Given the description of an element on the screen output the (x, y) to click on. 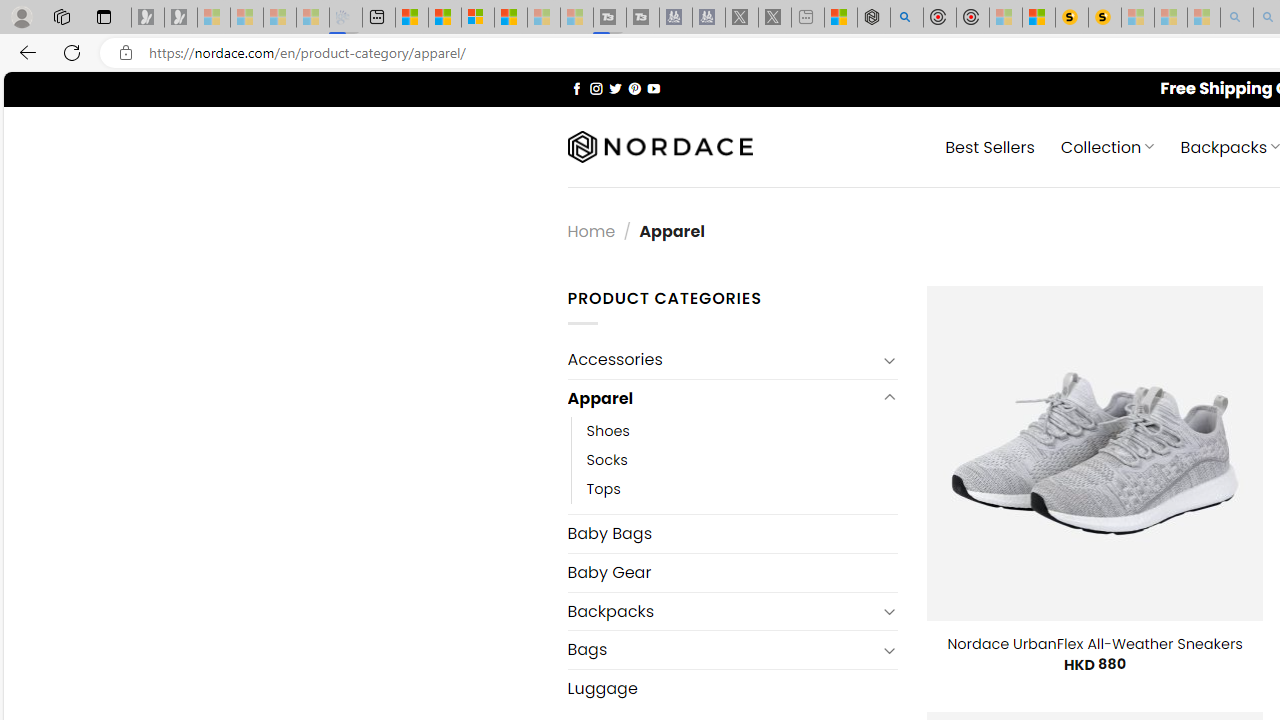
Shoes (742, 431)
Baby Bags (732, 533)
Luggage (732, 687)
Luggage (732, 687)
Baby Bags (732, 533)
